Given the description of an element on the screen output the (x, y) to click on. 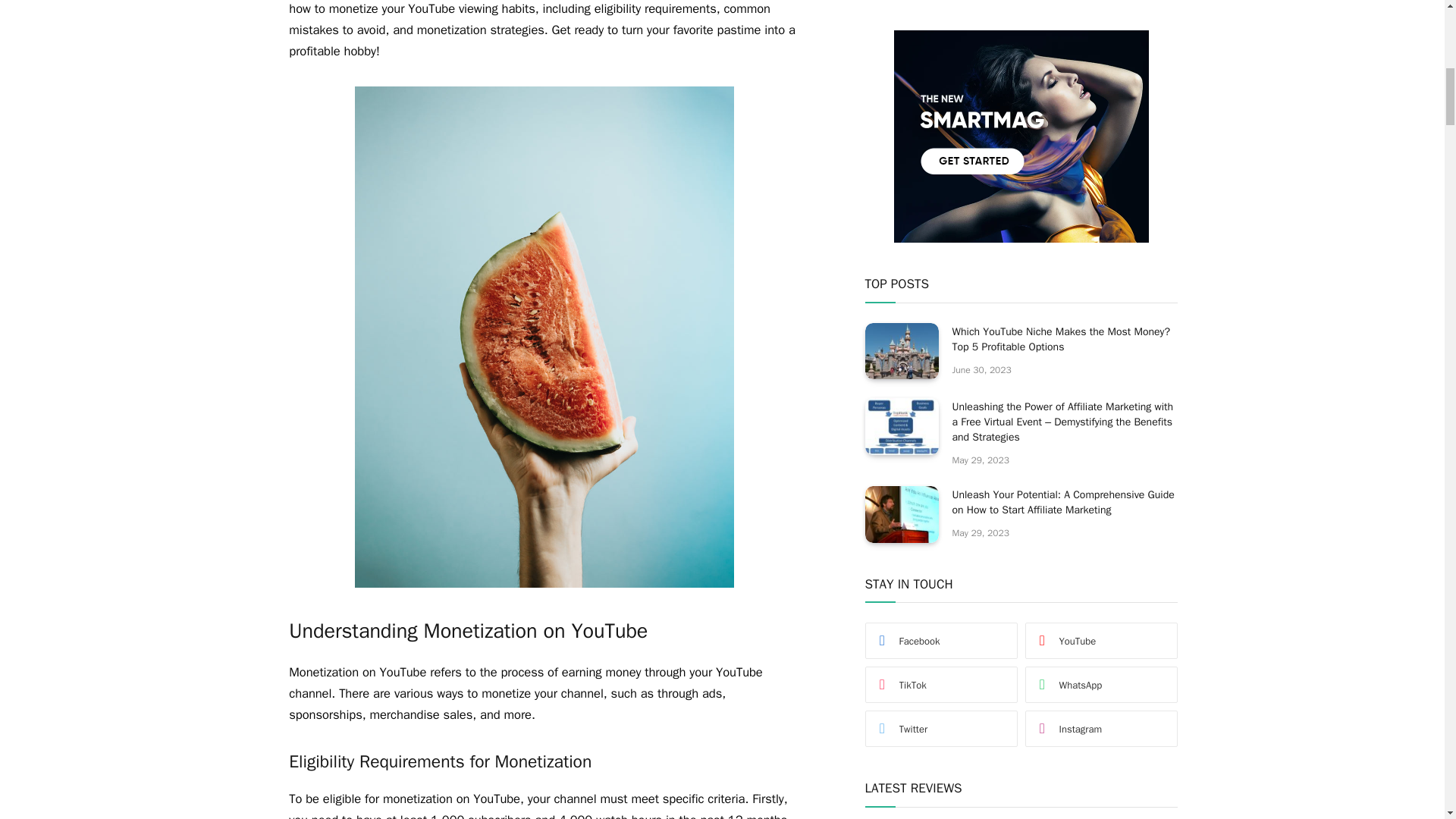
on (915, 583)
Subscribe (1020, 546)
